Given the description of an element on the screen output the (x, y) to click on. 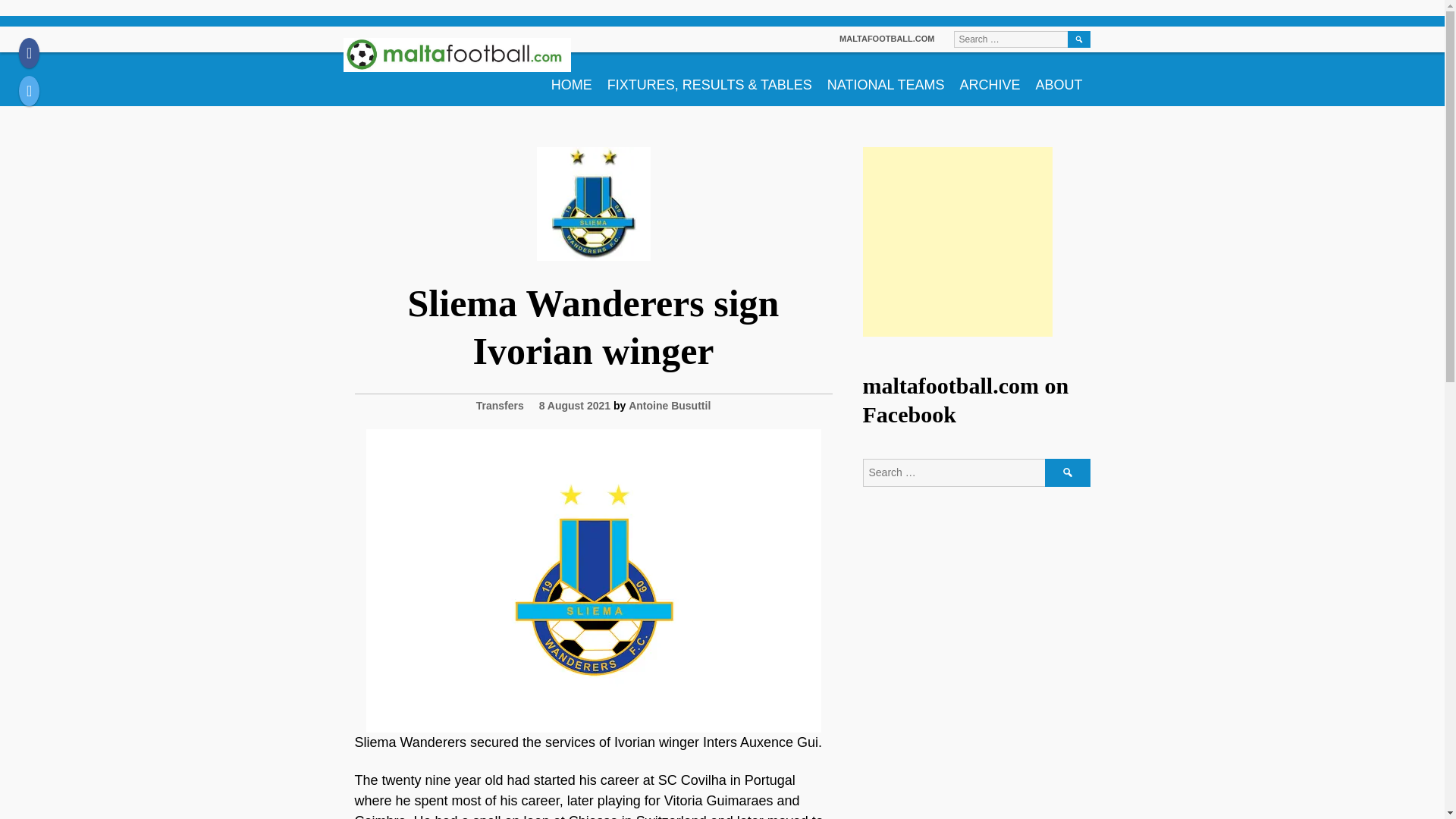
Advertisement (957, 241)
ARCHIVE (989, 79)
MALTAFOOTBALL.COM (887, 38)
HOME (571, 79)
Search (1078, 39)
NATIONAL TEAMS (885, 79)
